Given the description of an element on the screen output the (x, y) to click on. 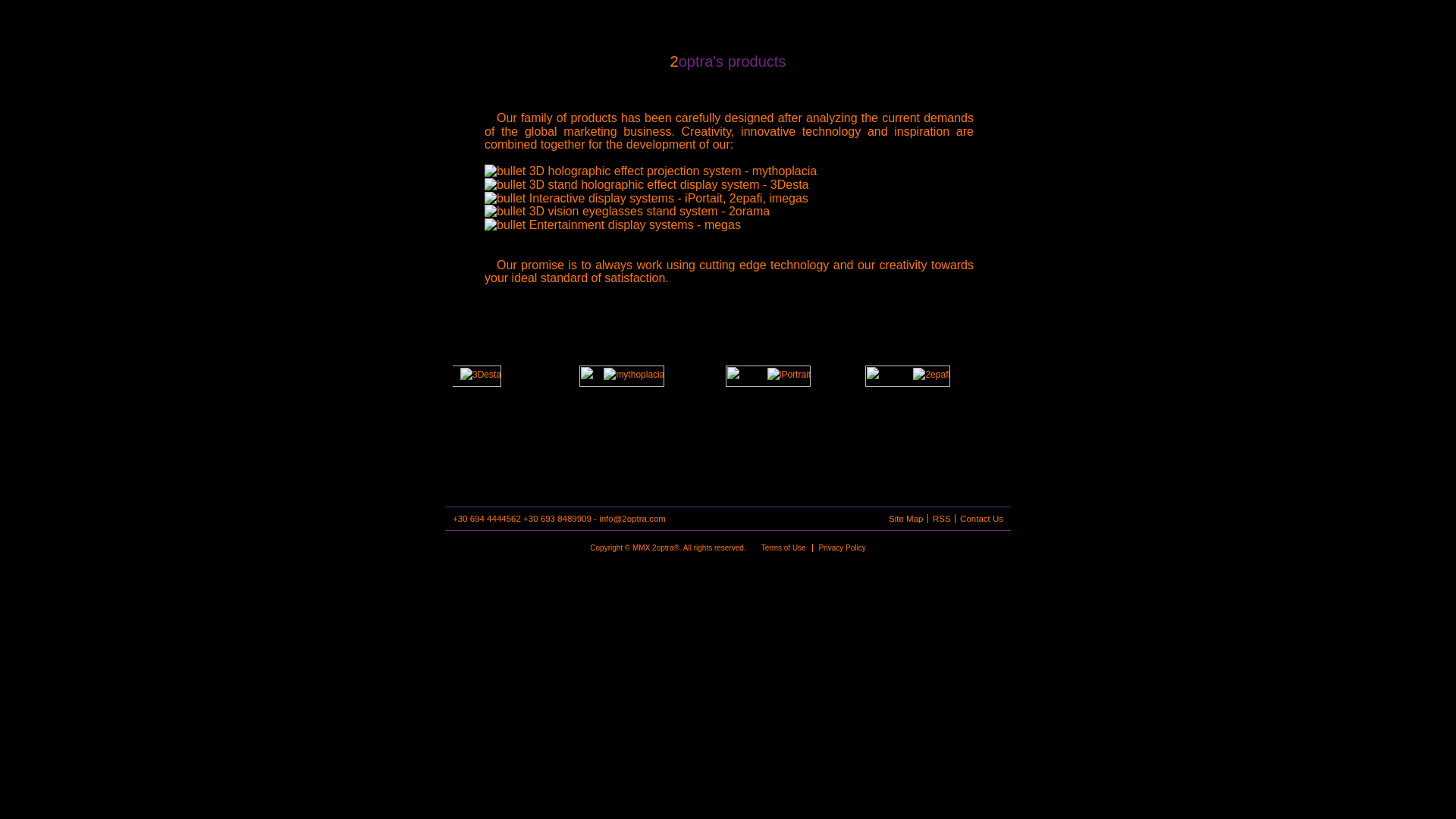
RSS Element type: text (938, 518)
Terms of Use Element type: text (783, 547)
products Element type: text (577, 20)
Contact Us Element type: text (978, 518)
solutions Element type: text (665, 20)
2optra Element type: text (488, 20)
info@2optra.com Element type: text (632, 518)
Privacy Policy Element type: text (839, 547)
news Element type: text (843, 20)
services Element type: text (754, 20)
Site Map Element type: text (903, 518)
